Given the description of an element on the screen output the (x, y) to click on. 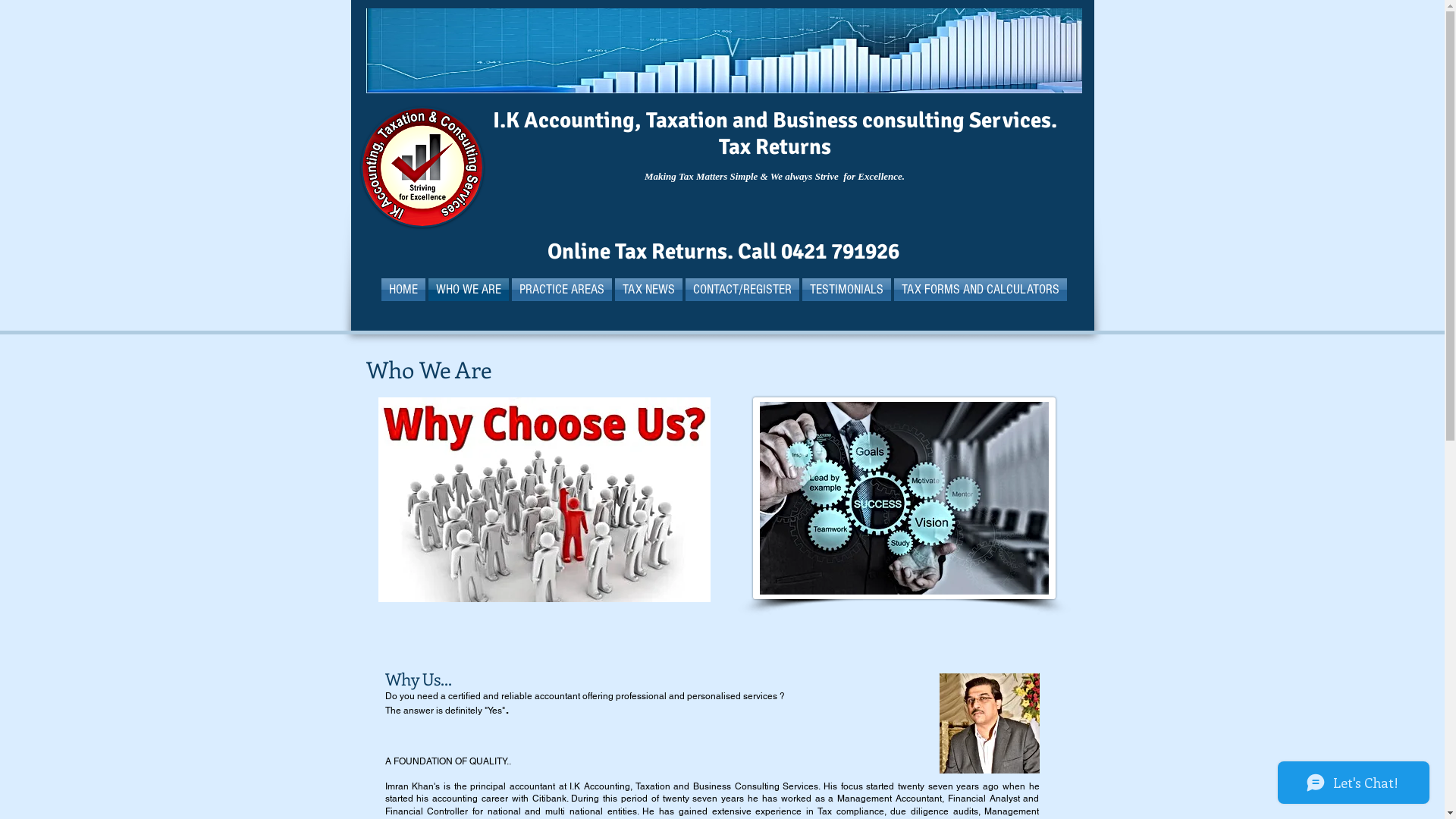
TAX FORMS AND CALCULATORS Element type: text (979, 289)
TESTIMONIALS Element type: text (846, 289)
TAX NEWS Element type: text (647, 289)
HOME Element type: text (402, 289)
CONTACT/REGISTER Element type: text (742, 289)
PRACTICE AREAS Element type: text (560, 289)
WHO WE ARE Element type: text (467, 289)
Come and Grow with us.. Element type: hover (723, 50)
